Given the description of an element on the screen output the (x, y) to click on. 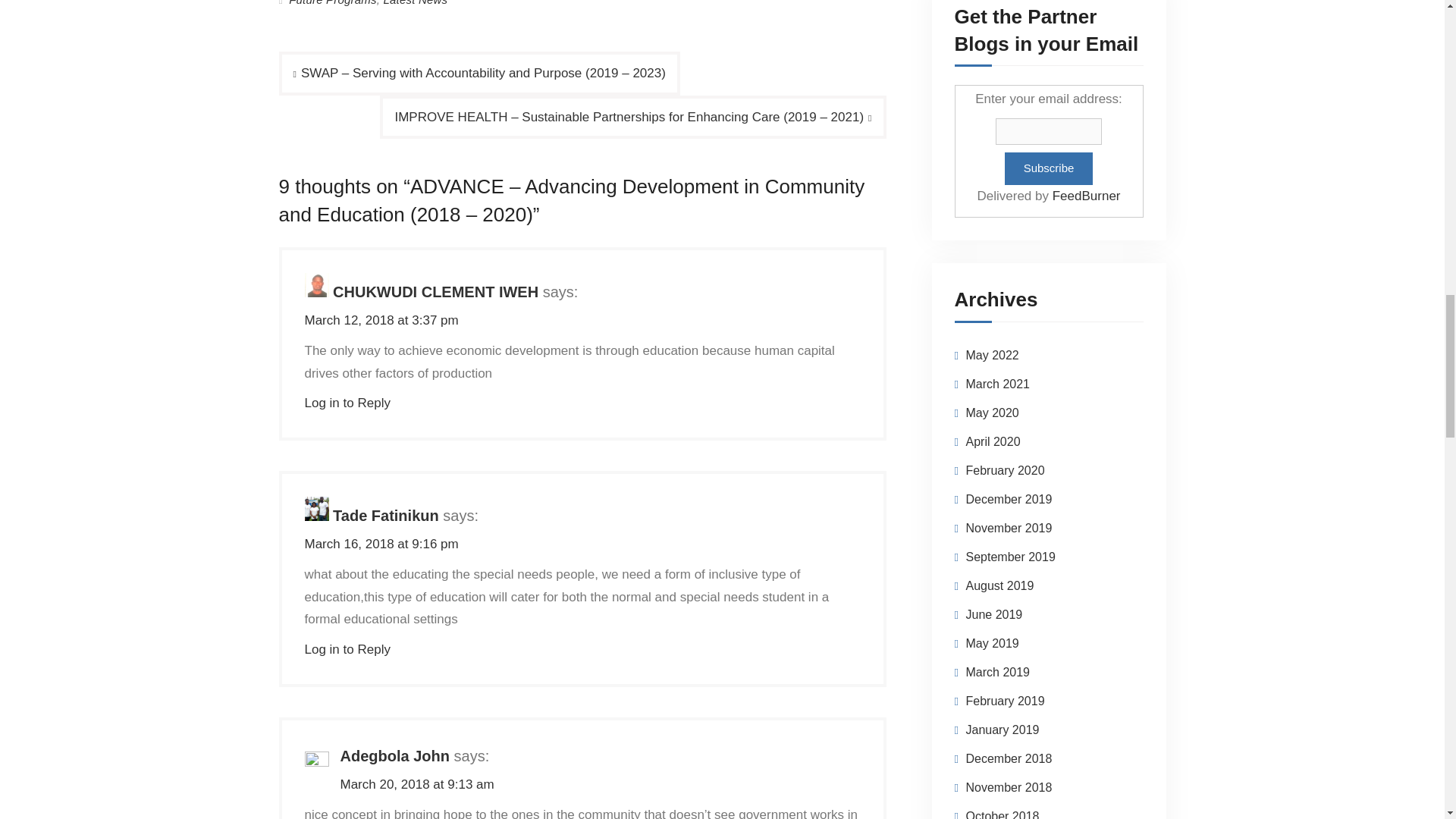
Subscribe (1048, 168)
